Given the description of an element on the screen output the (x, y) to click on. 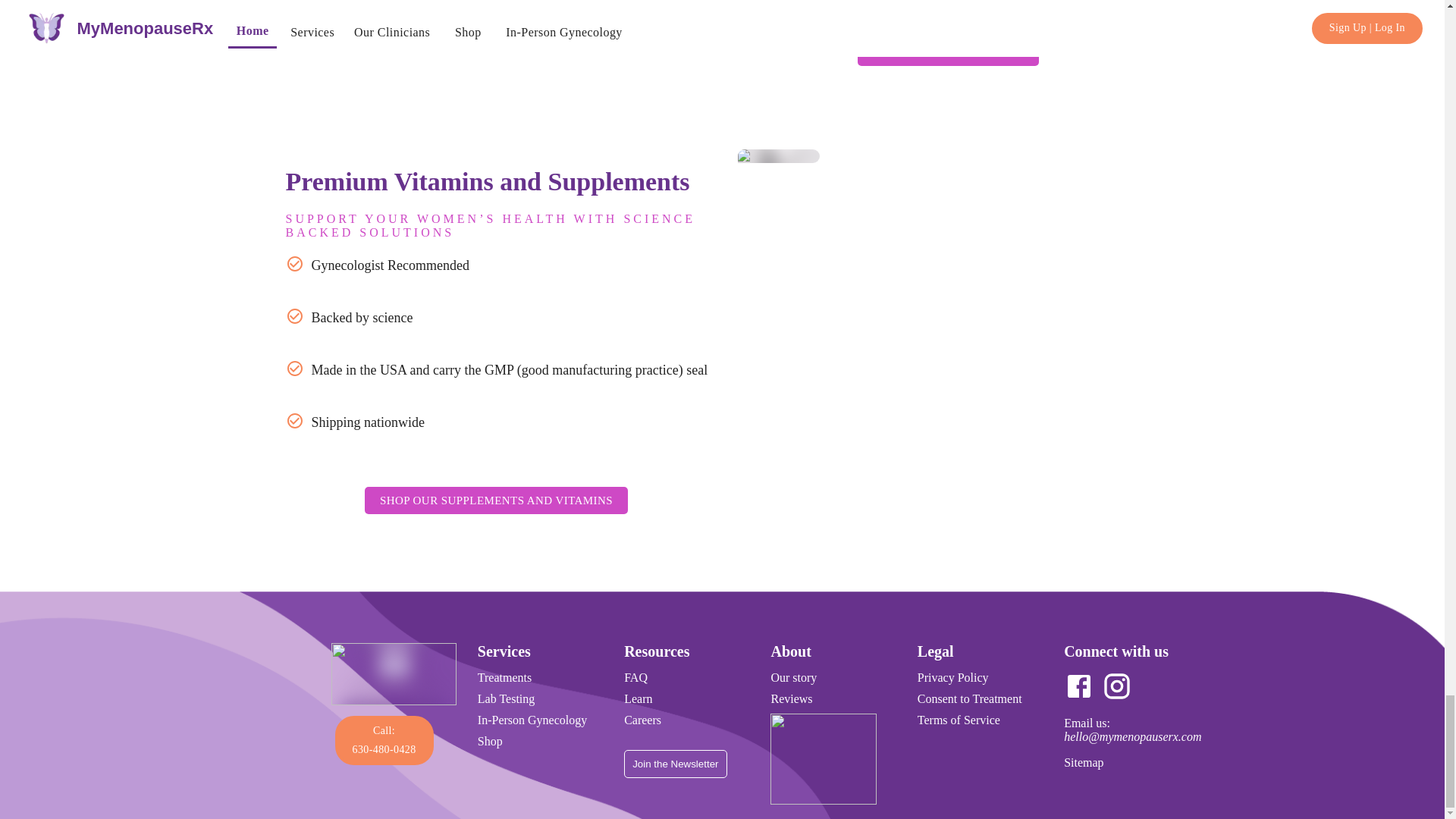
Shop (489, 740)
SHOP OUR SUPPLEMENTS AND VITAMINS (496, 500)
SEE OUR AVAILABLE LABS (383, 739)
SHOP OUR SUPPLEMENTS AND VITAMINS (383, 739)
SEE OUR AVAILABLE LABS (947, 52)
In-Person Gynecology (496, 500)
Lab Testing (947, 52)
Treatments (531, 719)
